Given the description of an element on the screen output the (x, y) to click on. 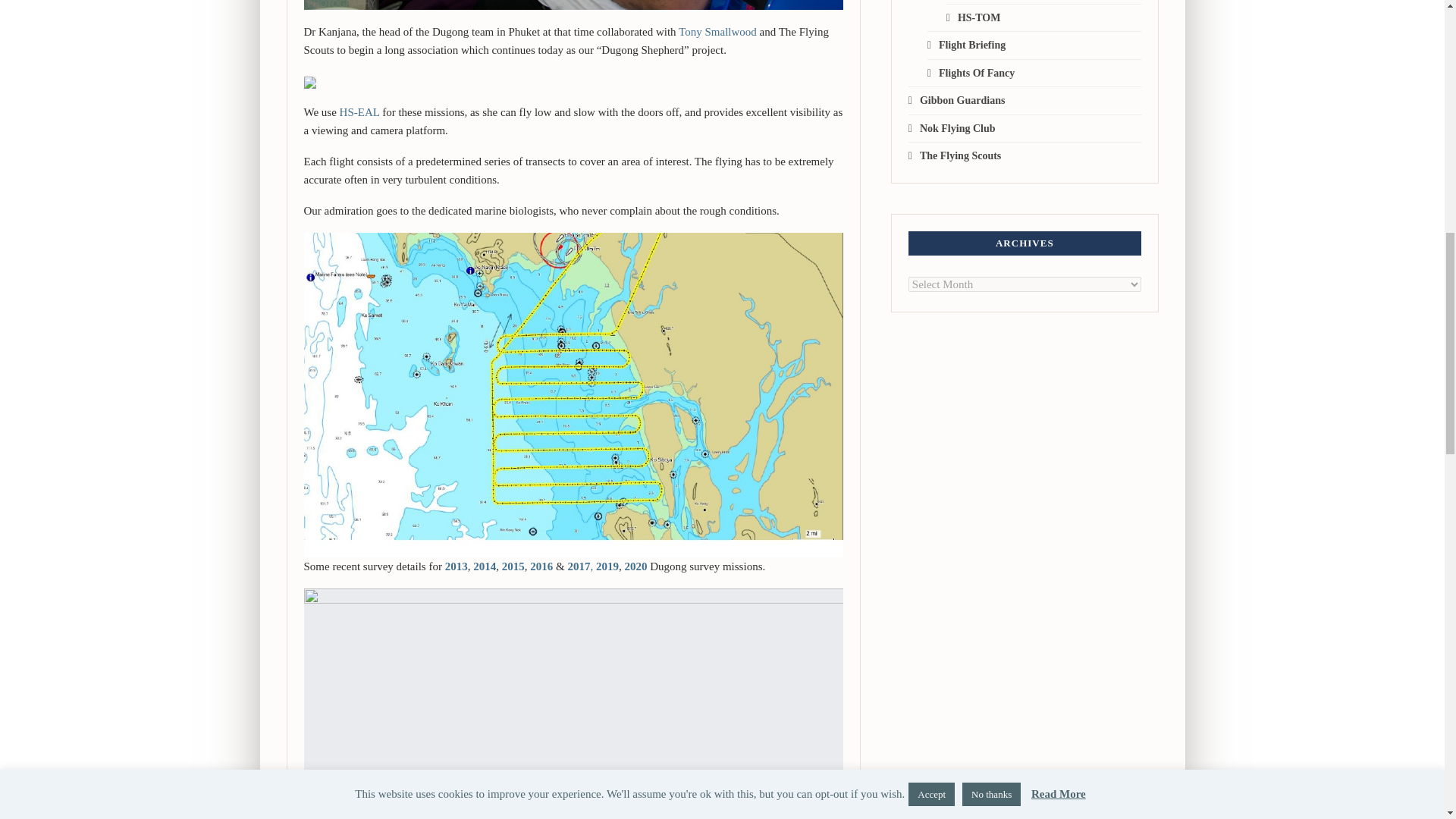
2017, (579, 566)
HS-EAL (359, 111)
2014 (484, 566)
Tony Smallwood (717, 31)
2019 (606, 566)
2013 (454, 566)
2016 (541, 566)
2015 (513, 566)
2020 (635, 566)
